Given the description of an element on the screen output the (x, y) to click on. 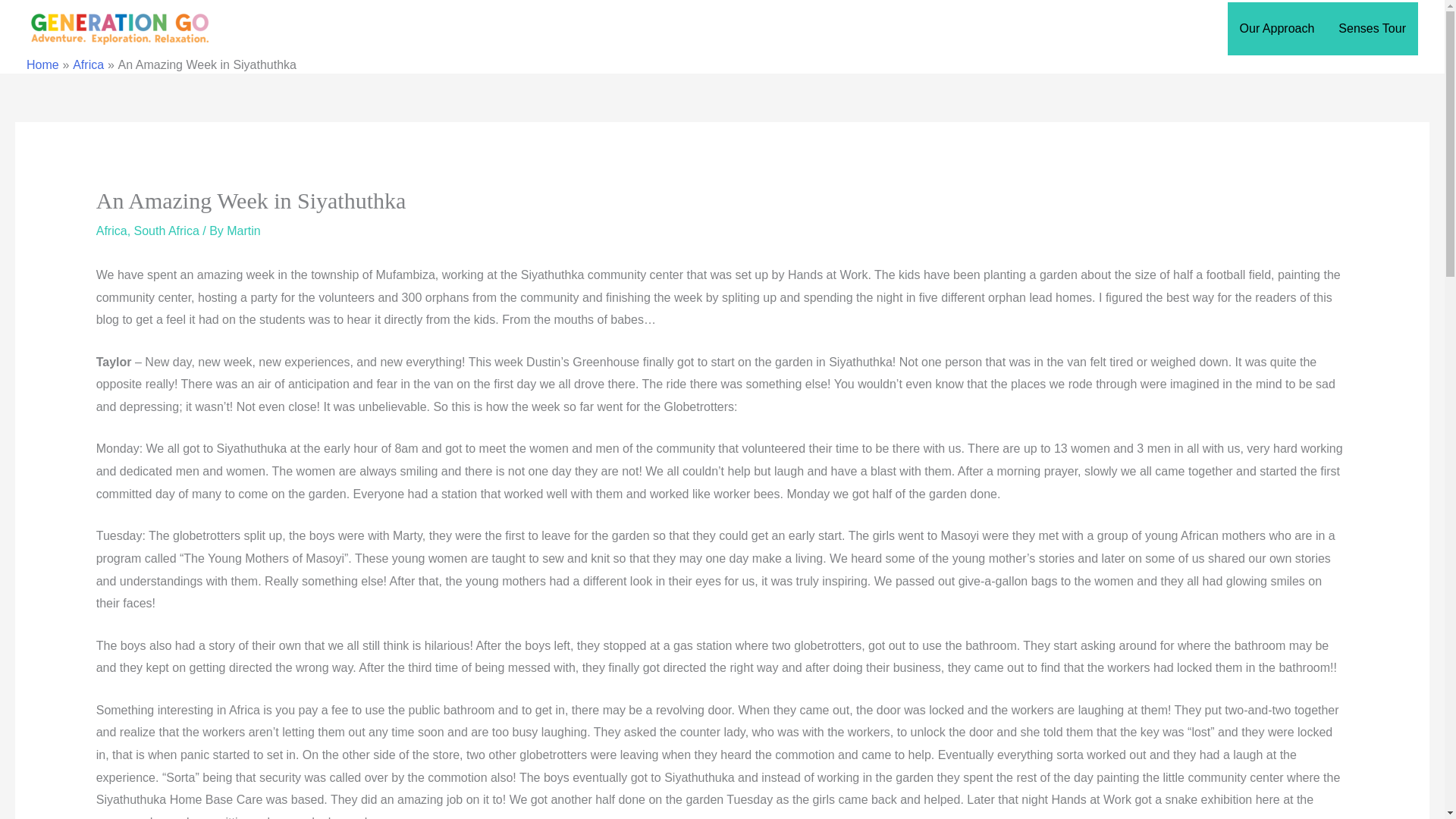
Our Approach (1276, 27)
Africa (112, 230)
Martin (243, 230)
View all posts by Martin (243, 230)
South Africa (166, 230)
Senses Tour (1372, 27)
Africa (87, 64)
Home (42, 64)
